Given the description of an element on the screen output the (x, y) to click on. 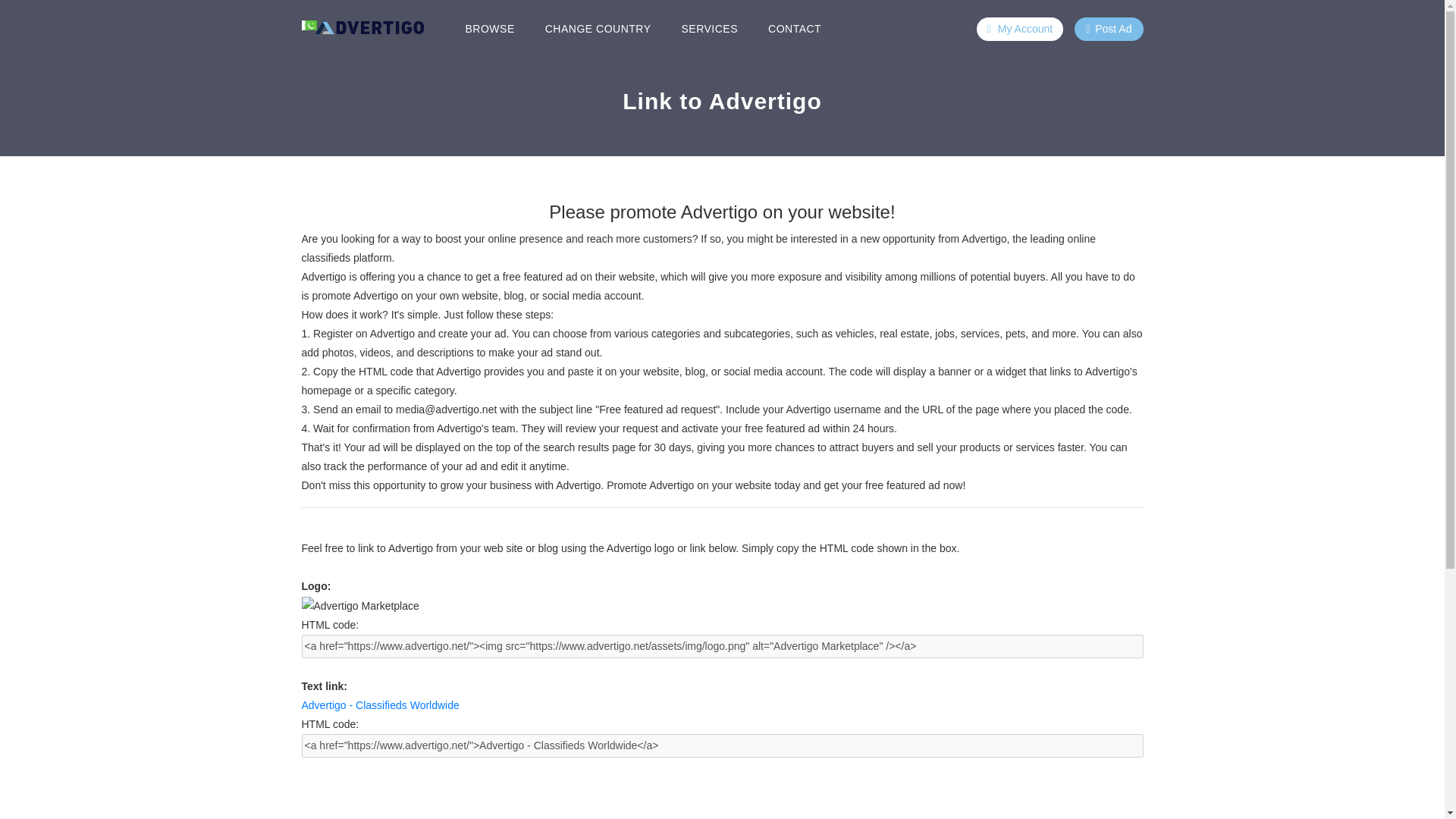
My Account (1019, 28)
Advertigo Marketplace PAKISTAN (369, 29)
CHANGE COUNTRY (597, 29)
BROWSE (489, 29)
SERVICES (708, 29)
Advertigo - Classifieds Worldwide (380, 705)
CONTACT (793, 29)
Post Ad (1108, 28)
Advertigo Marketplace (360, 606)
